Given the description of an element on the screen output the (x, y) to click on. 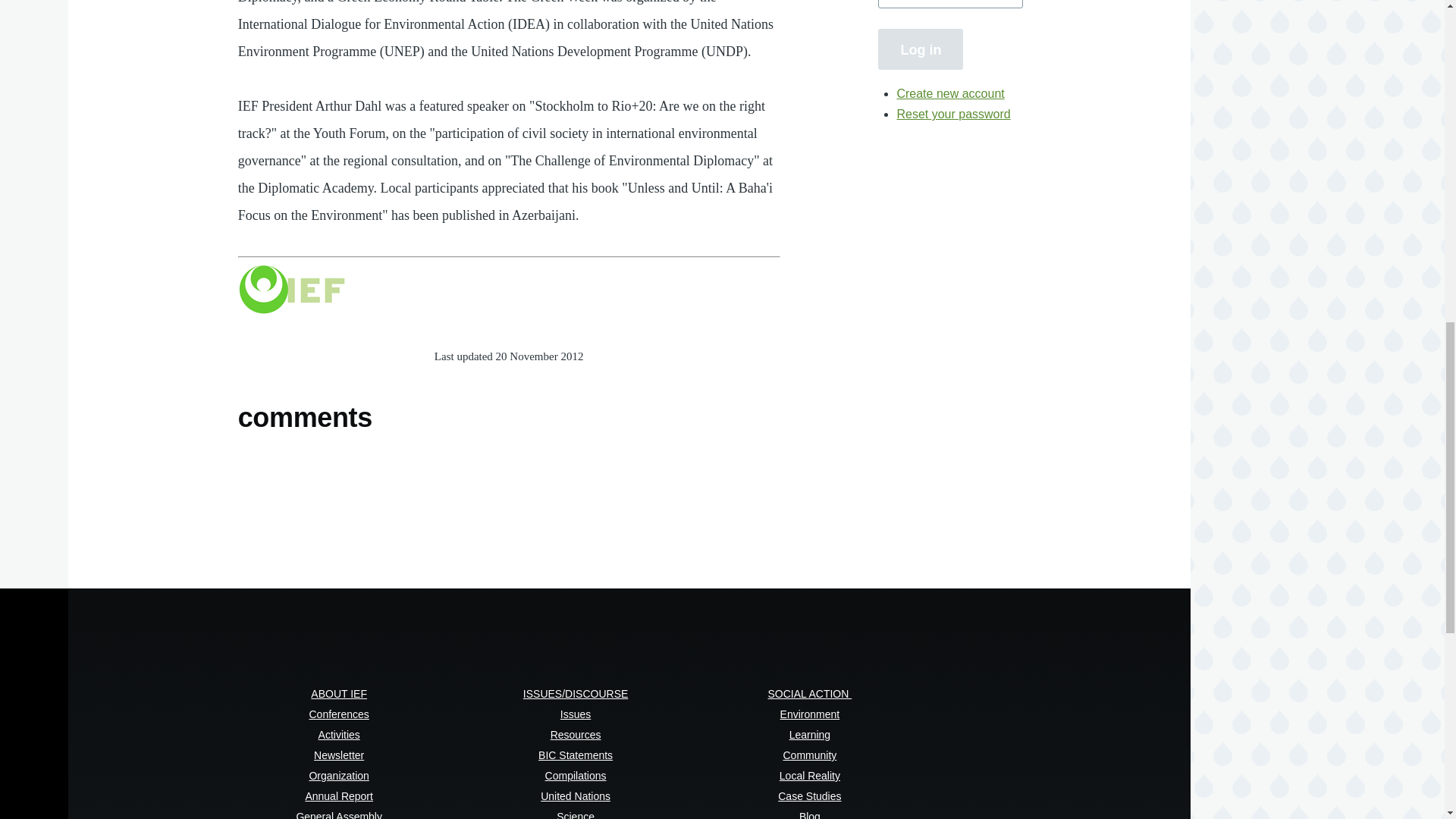
Create a new user account. (950, 92)
Log in (919, 48)
Send password reset instructions via email. (953, 113)
